Given the description of an element on the screen output the (x, y) to click on. 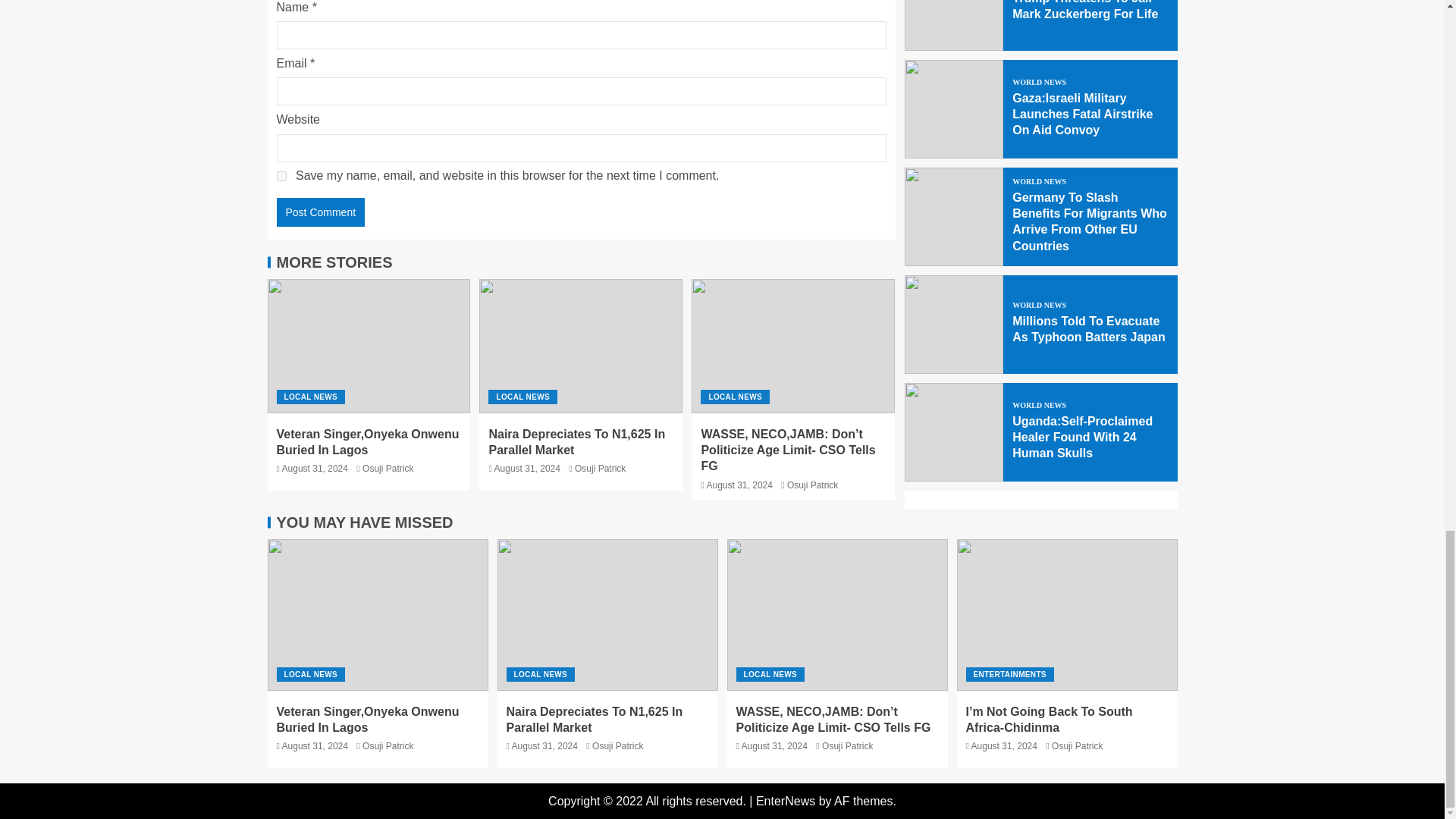
Osuji Patrick (600, 468)
Osuji Patrick (387, 468)
Naira Depreciates To N1,625 In Parallel Market (576, 441)
LOCAL NEWS (522, 396)
Veteran Singer,Onyeka Onwenu Buried In Lagos (367, 441)
yes (280, 175)
LOCAL NEWS (310, 396)
Post Comment (320, 212)
Post Comment (320, 212)
